Given the description of an element on the screen output the (x, y) to click on. 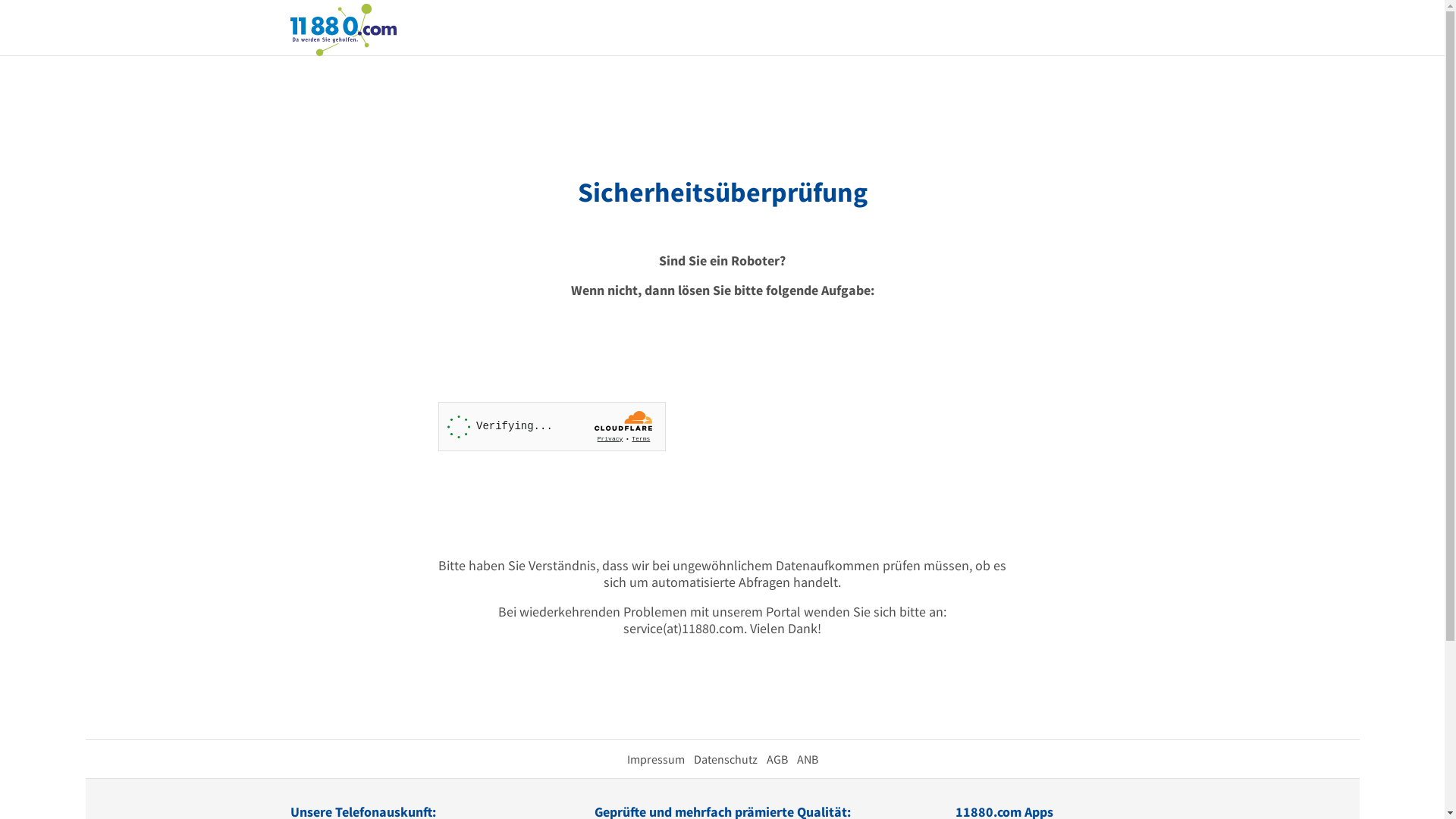
Impressum Element type: text (655, 758)
Widget containing a Cloudflare security challenge Element type: hover (551, 426)
AGB Element type: text (776, 758)
Datenschutz Element type: text (724, 758)
11880.com Element type: hover (342, 28)
ANB Element type: text (806, 758)
